Given the description of an element on the screen output the (x, y) to click on. 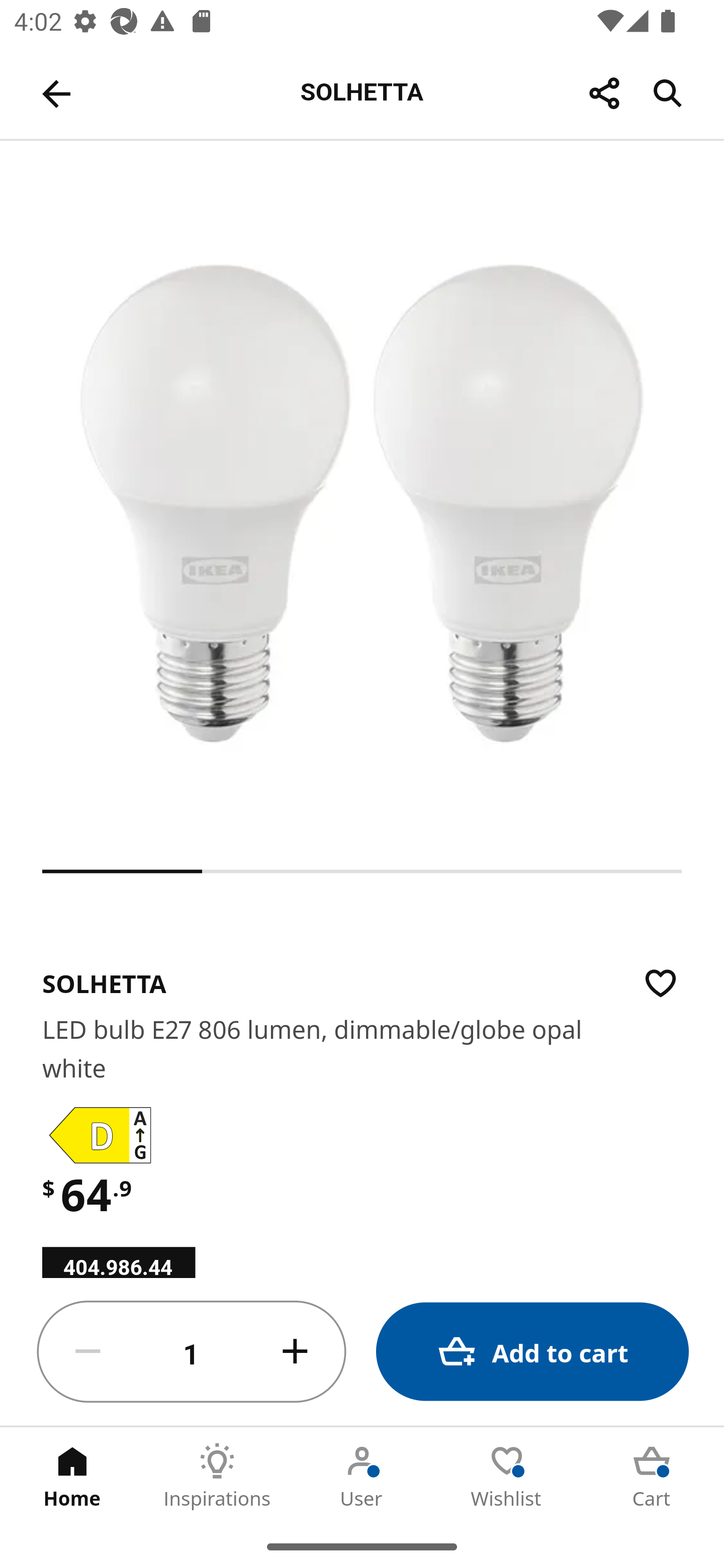
Add to cart (531, 1352)
1 (191, 1352)
Home
Tab 1 of 5 (72, 1476)
Inspirations
Tab 2 of 5 (216, 1476)
User
Tab 3 of 5 (361, 1476)
Wishlist
Tab 4 of 5 (506, 1476)
Cart
Tab 5 of 5 (651, 1476)
